Given the description of an element on the screen output the (x, y) to click on. 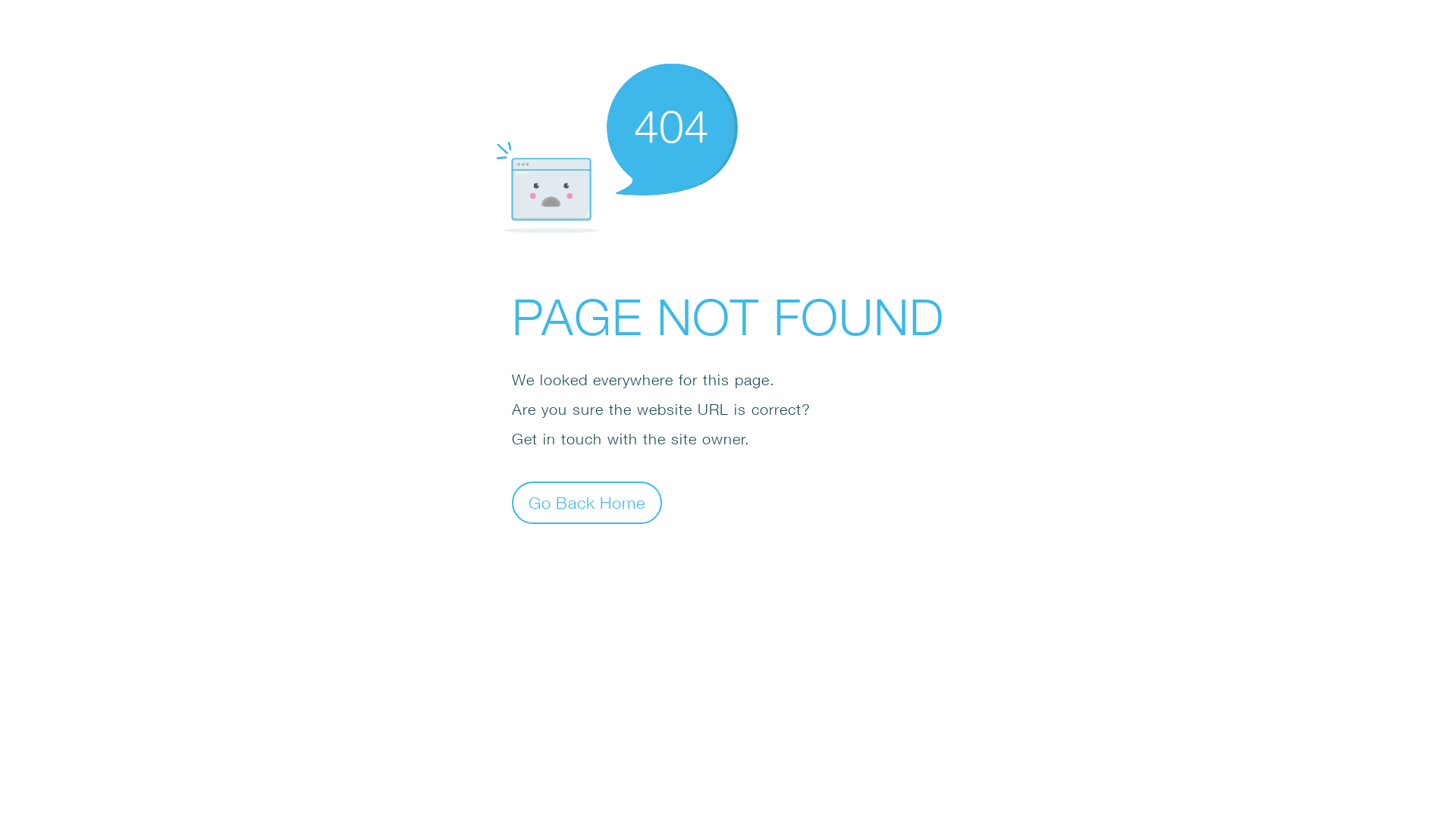
Go Back Home Element type: text (586, 502)
